Given the description of an element on the screen output the (x, y) to click on. 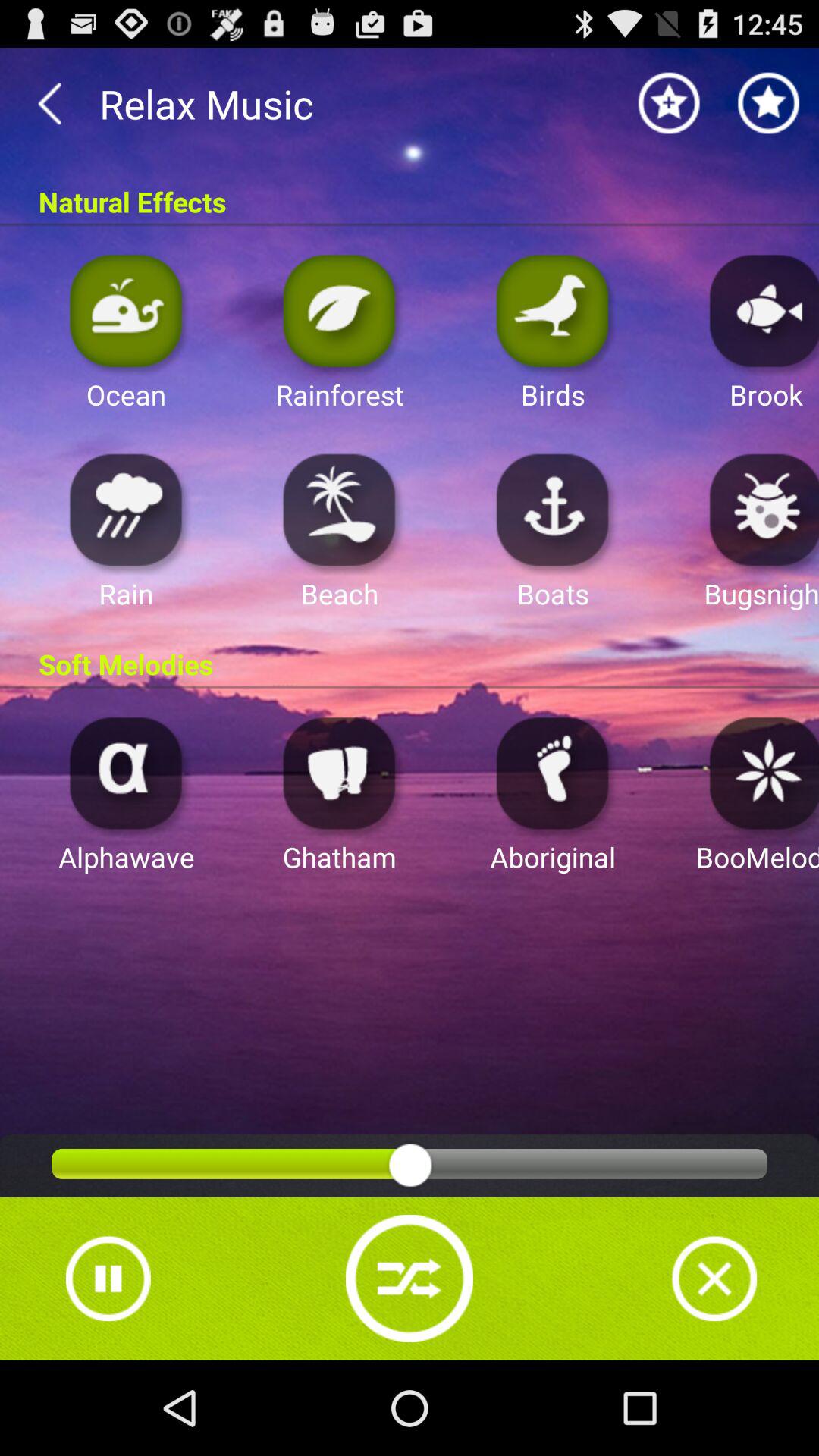
brock app (759, 309)
